Given the description of an element on the screen output the (x, y) to click on. 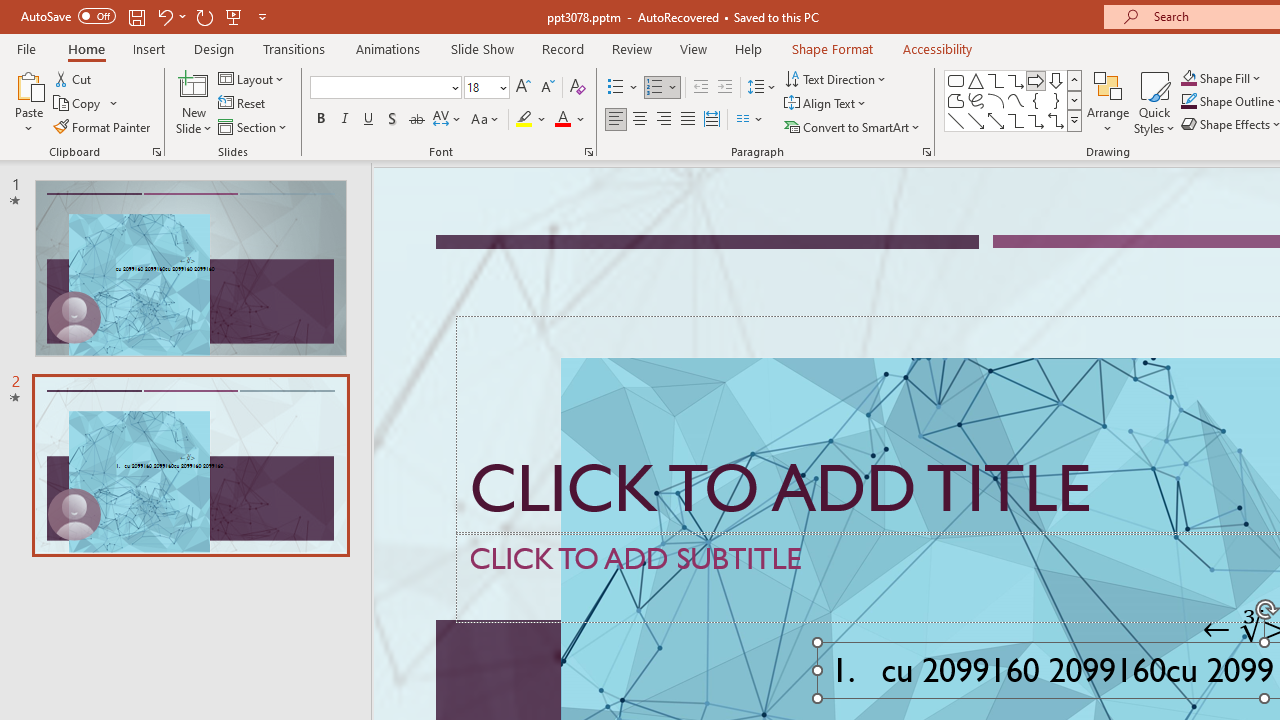
Line Arrow: Double (995, 120)
